Given the description of an element on the screen output the (x, y) to click on. 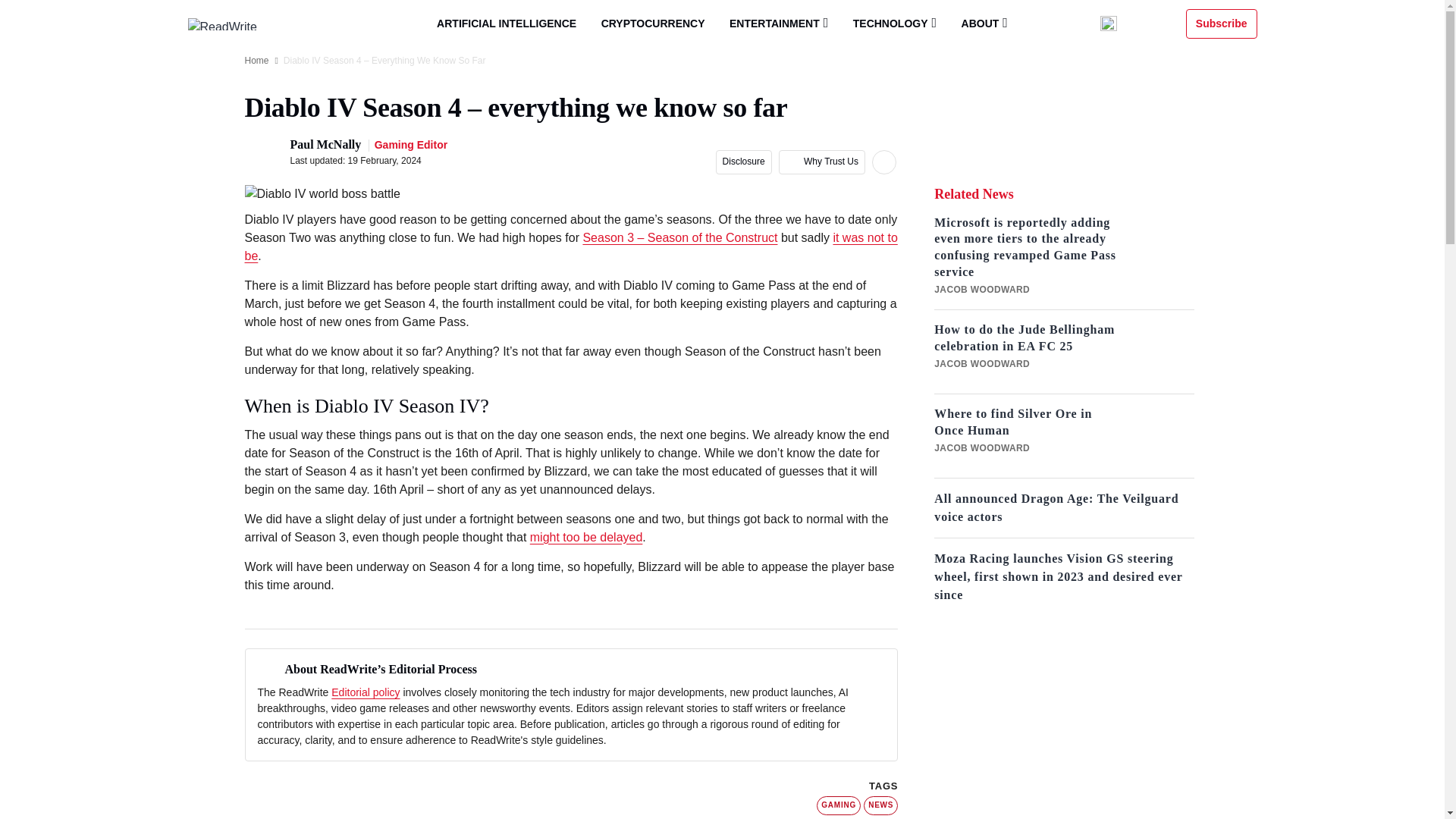
English (1137, 23)
ARTIFICIAL INTELLIGENCE (506, 23)
CRYPTOCURRENCY (653, 23)
TECHNOLOGY (895, 23)
ENTERTAINMENT (778, 23)
Subscribe (1221, 23)
Home (255, 60)
ABOUT (983, 23)
